Given the description of an element on the screen output the (x, y) to click on. 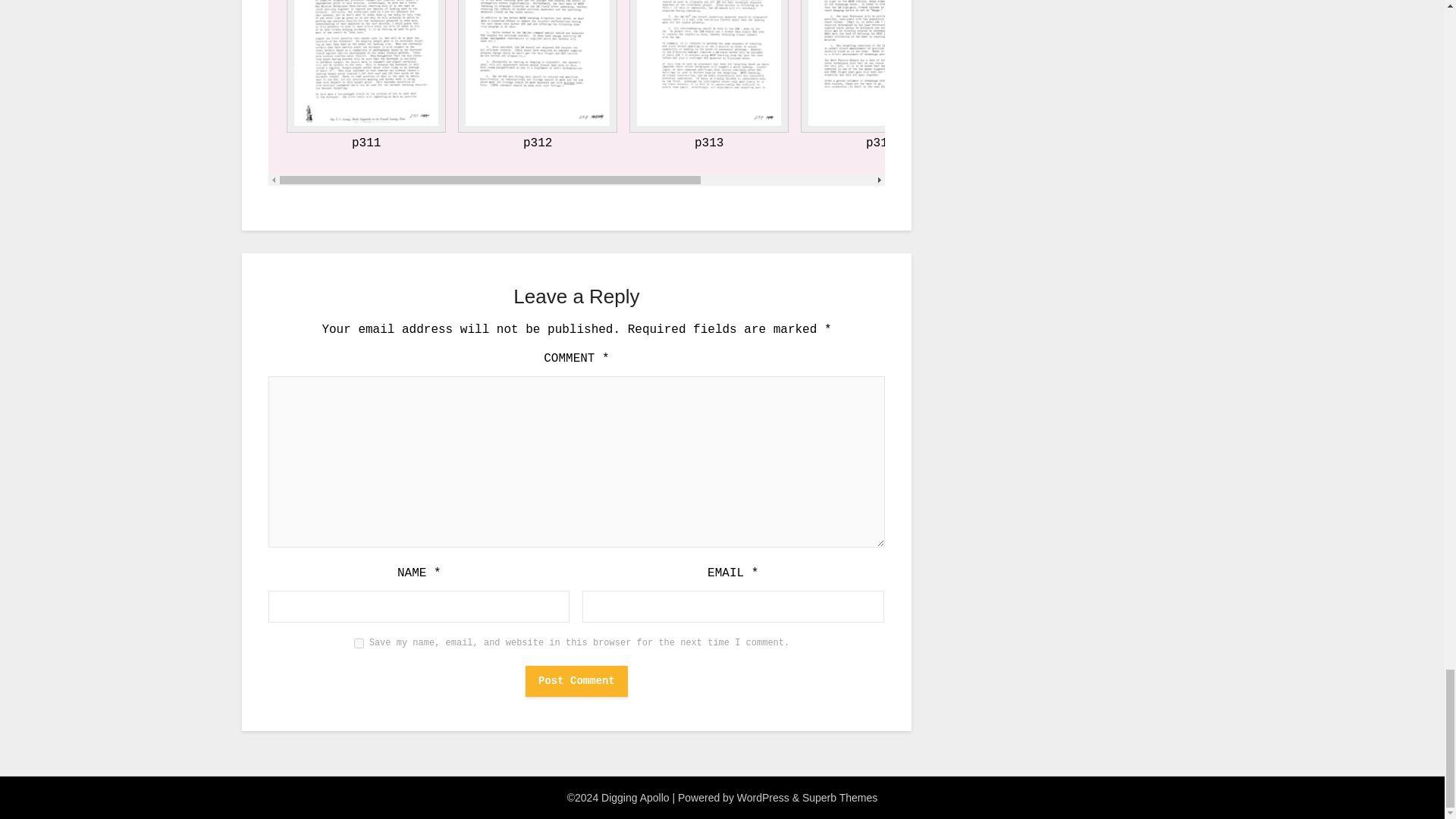
Post Comment (576, 680)
yes (358, 643)
Post Comment (576, 680)
